Given the description of an element on the screen output the (x, y) to click on. 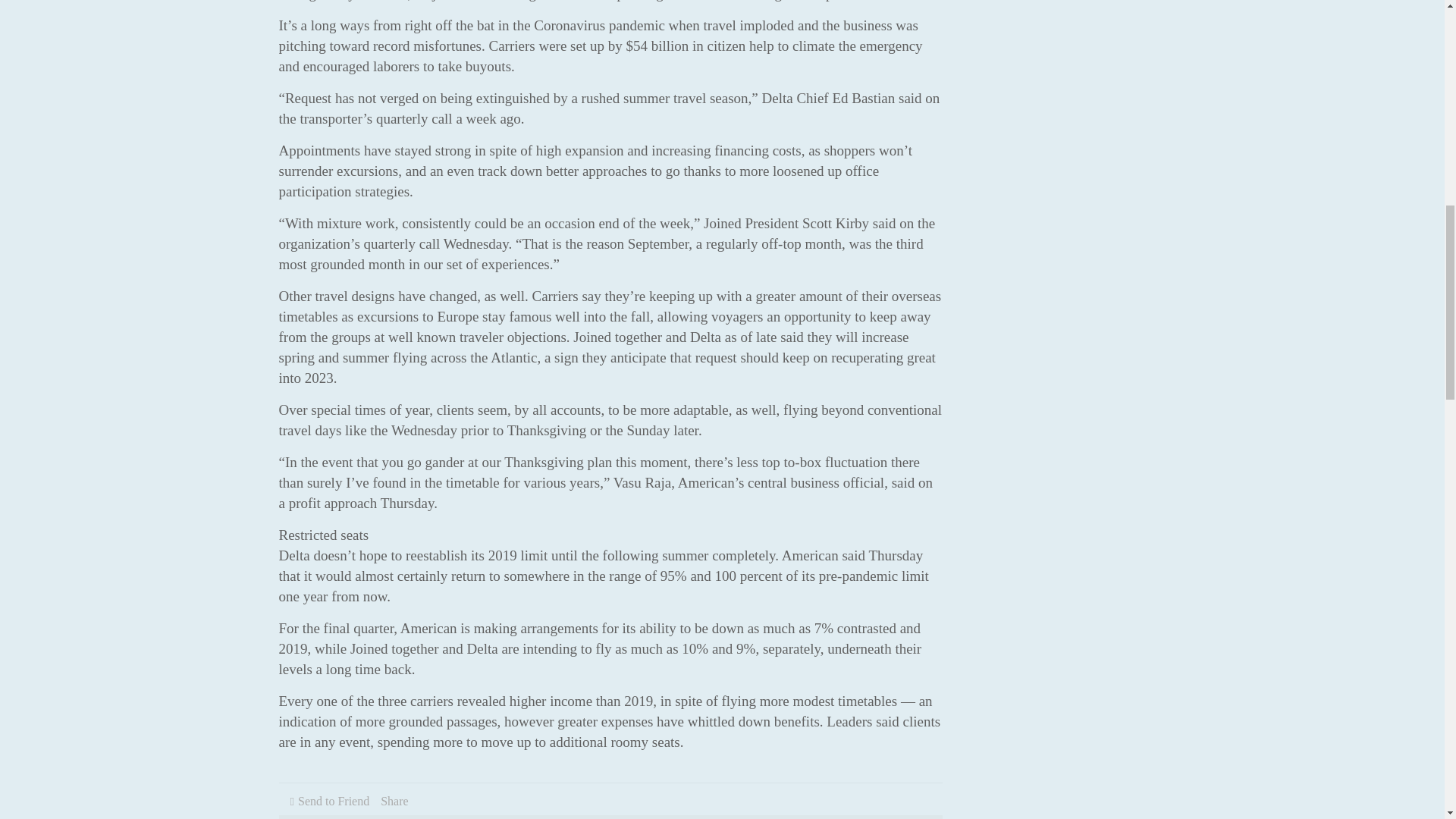
Send to Friend (333, 800)
Share (393, 800)
